Given the description of an element on the screen output the (x, y) to click on. 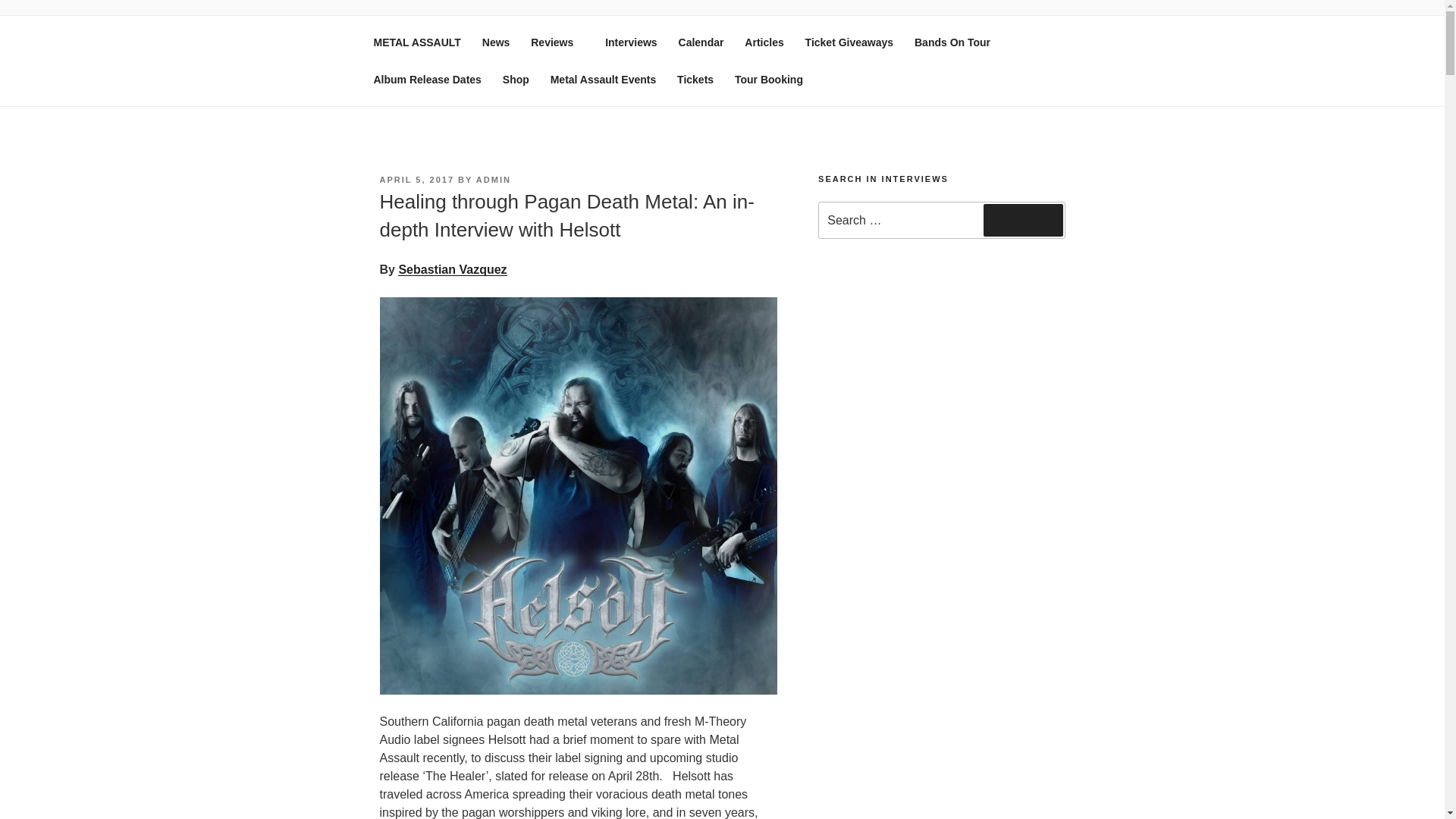
Shop (515, 78)
News (496, 42)
Reviews (556, 42)
METAL ASSAULT (416, 42)
Search (1023, 219)
Sebastian Vazquez (451, 269)
Metal Assault Events (603, 78)
Tickets (695, 78)
Calendar (701, 42)
Articles (763, 42)
METAL ASSAULT: INTERVIEWS (609, 52)
APRIL 5, 2017 (416, 179)
ADMIN (493, 179)
Tour Booking (768, 78)
Ticket Giveaways (849, 42)
